Given the description of an element on the screen output the (x, y) to click on. 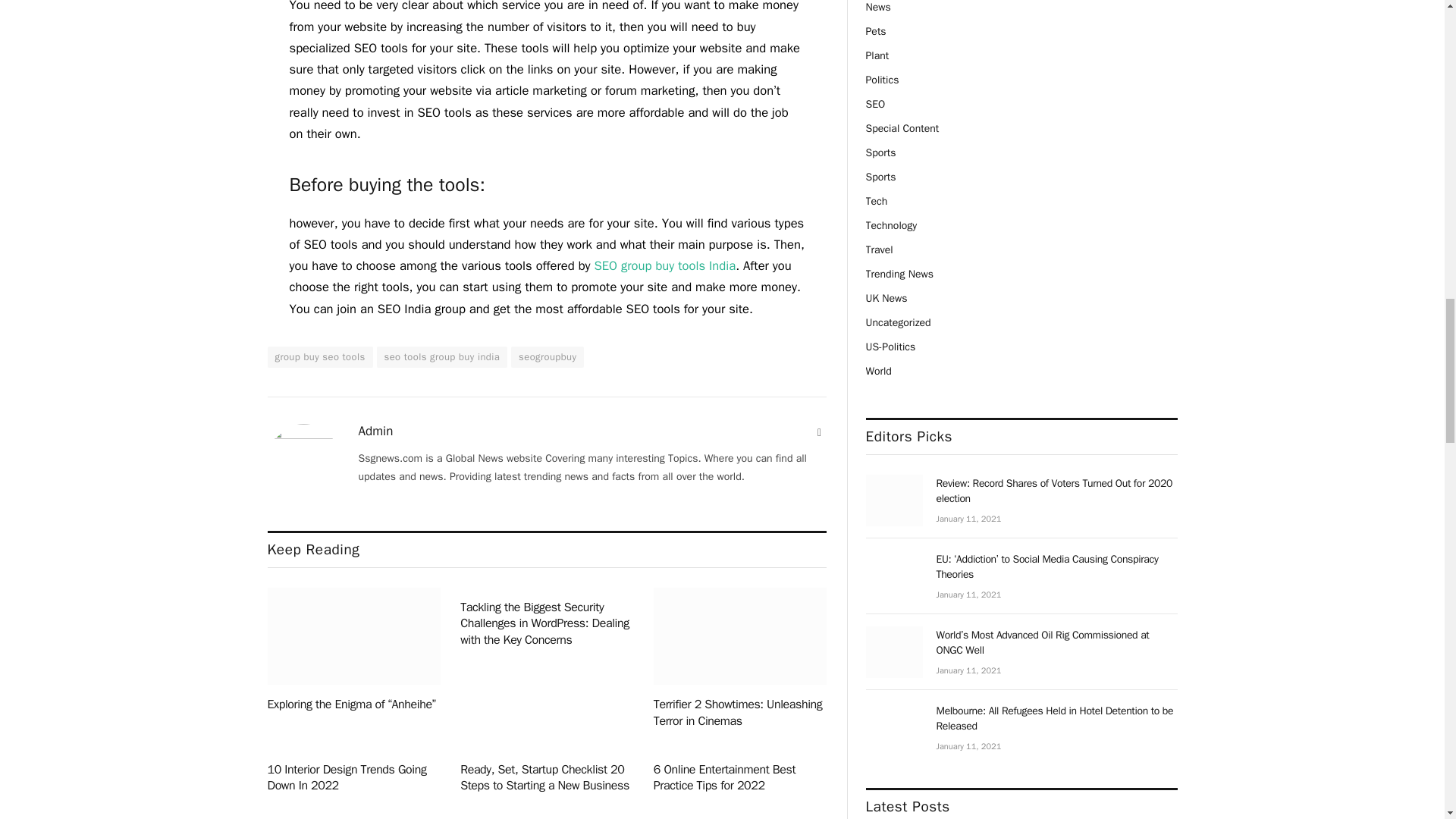
Terrifier 2 Showtimes: Unleashing Terror in Cinemas (740, 636)
Website (818, 432)
Posts by Admin (375, 431)
